Given the description of an element on the screen output the (x, y) to click on. 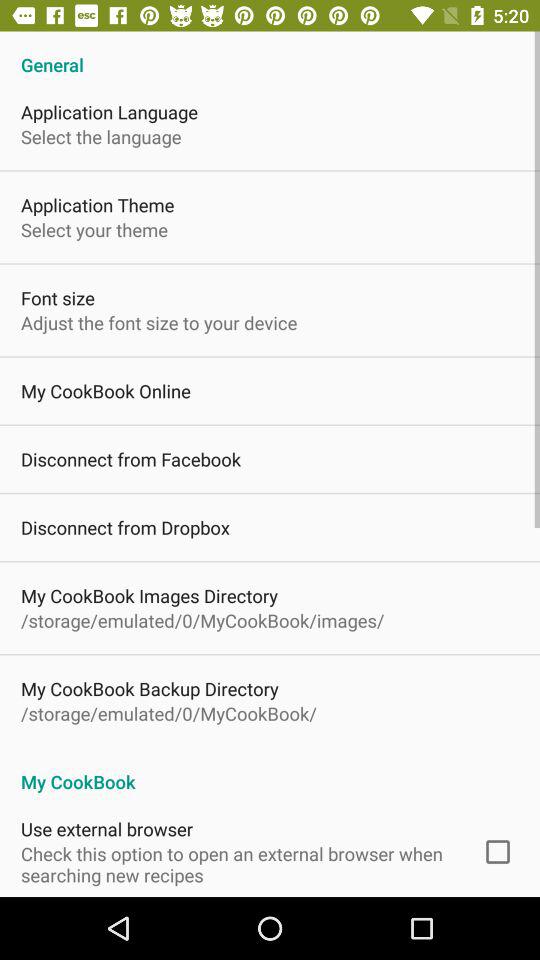
turn on select your theme (94, 229)
